Given the description of an element on the screen output the (x, y) to click on. 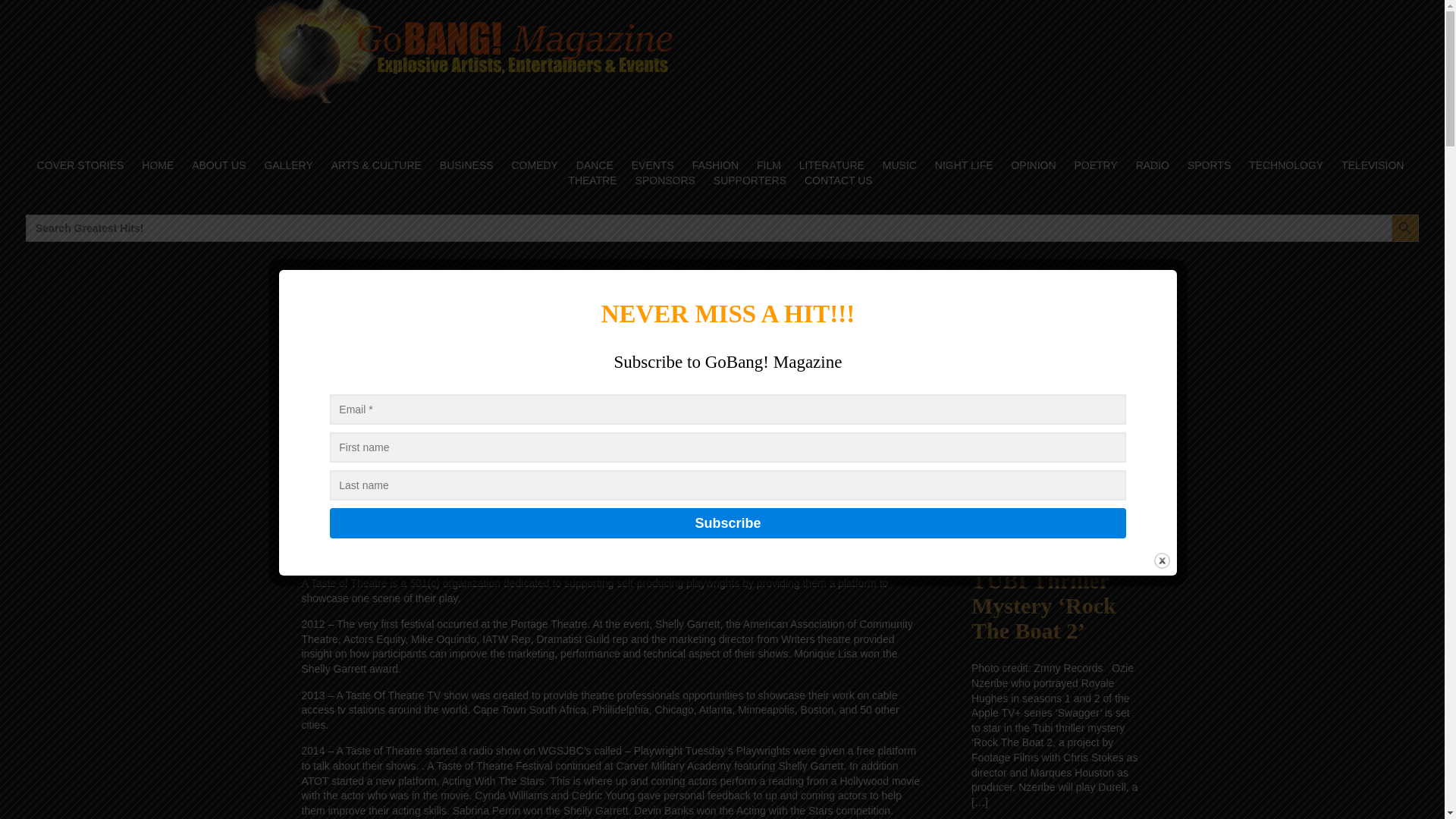
Subscribe (727, 522)
SUPPORTERS (750, 180)
Business: A TASTE OF THEATER (611, 325)
BUSINESS (466, 164)
TECHNOLOGY (1285, 164)
HOME (157, 164)
EVENTS (652, 164)
THEATRE (592, 180)
COMEDY (535, 164)
ABOUT US (217, 164)
GO BANG MAG (488, 386)
Search Button (1404, 227)
TELEVISION (1372, 164)
Close (1162, 560)
March 28, 2020 (383, 386)
